Given the description of an element on the screen output the (x, y) to click on. 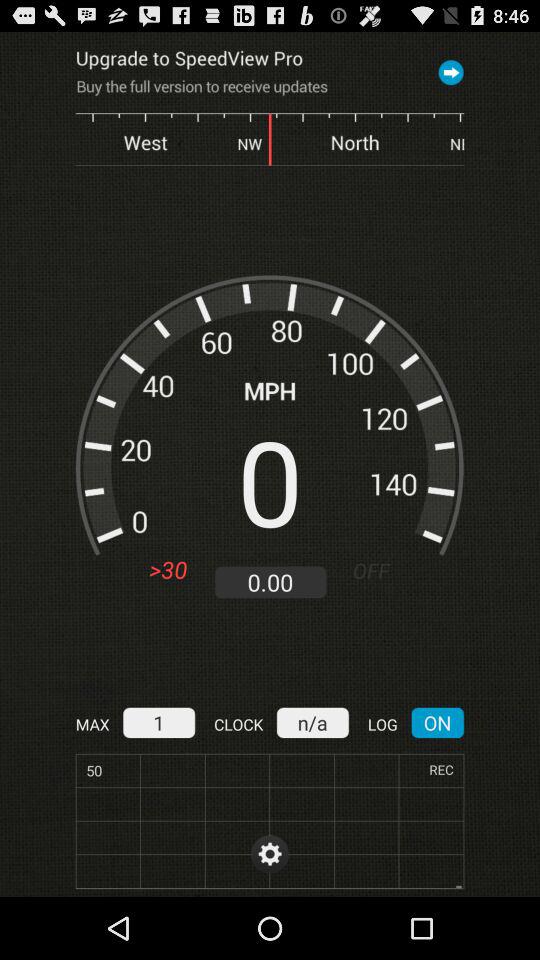
turn on the app next to the 0.00 (378, 570)
